Given the description of an element on the screen output the (x, y) to click on. 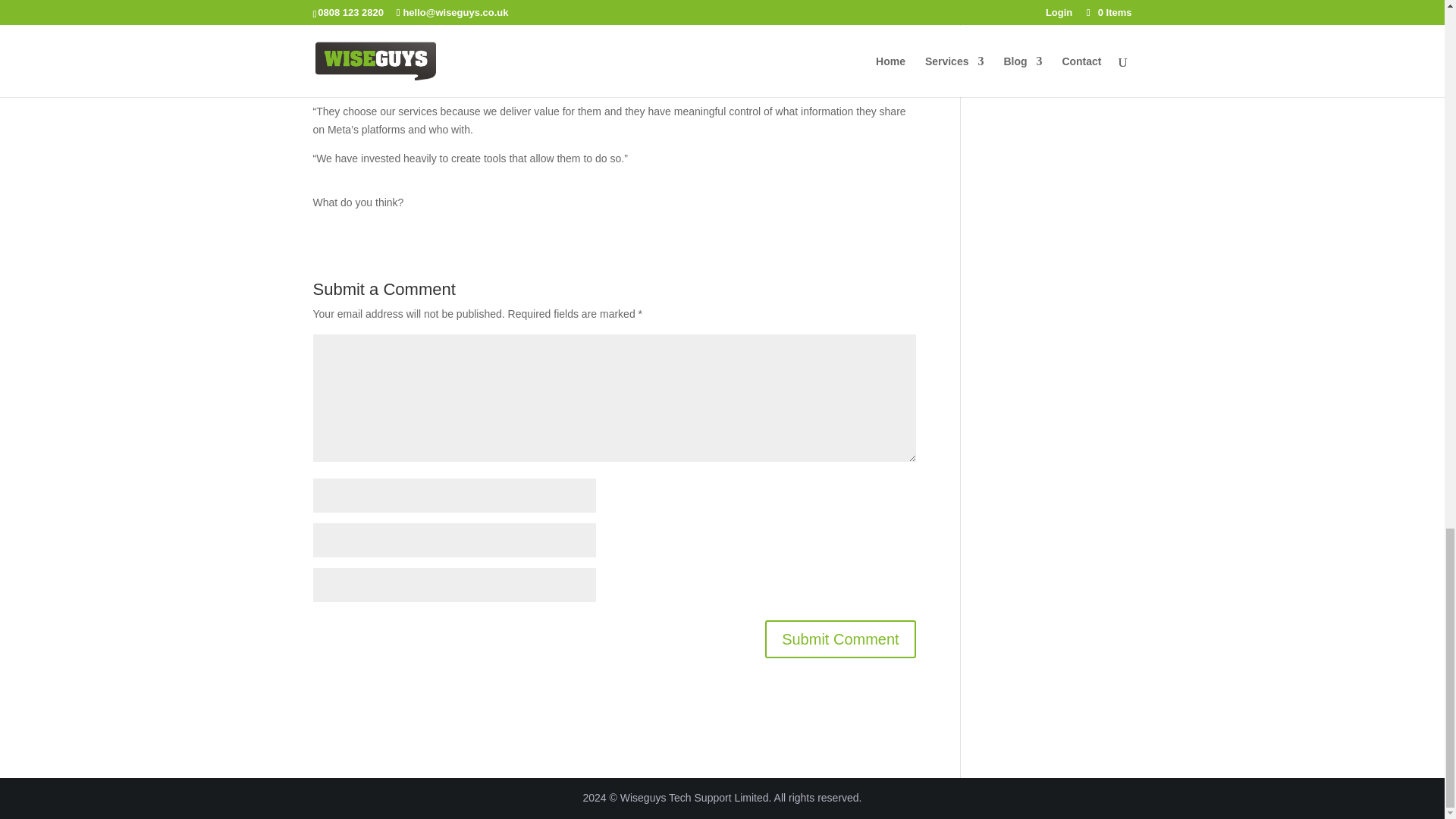
Submit Comment (840, 638)
Submit Comment (840, 638)
